Given the description of an element on the screen output the (x, y) to click on. 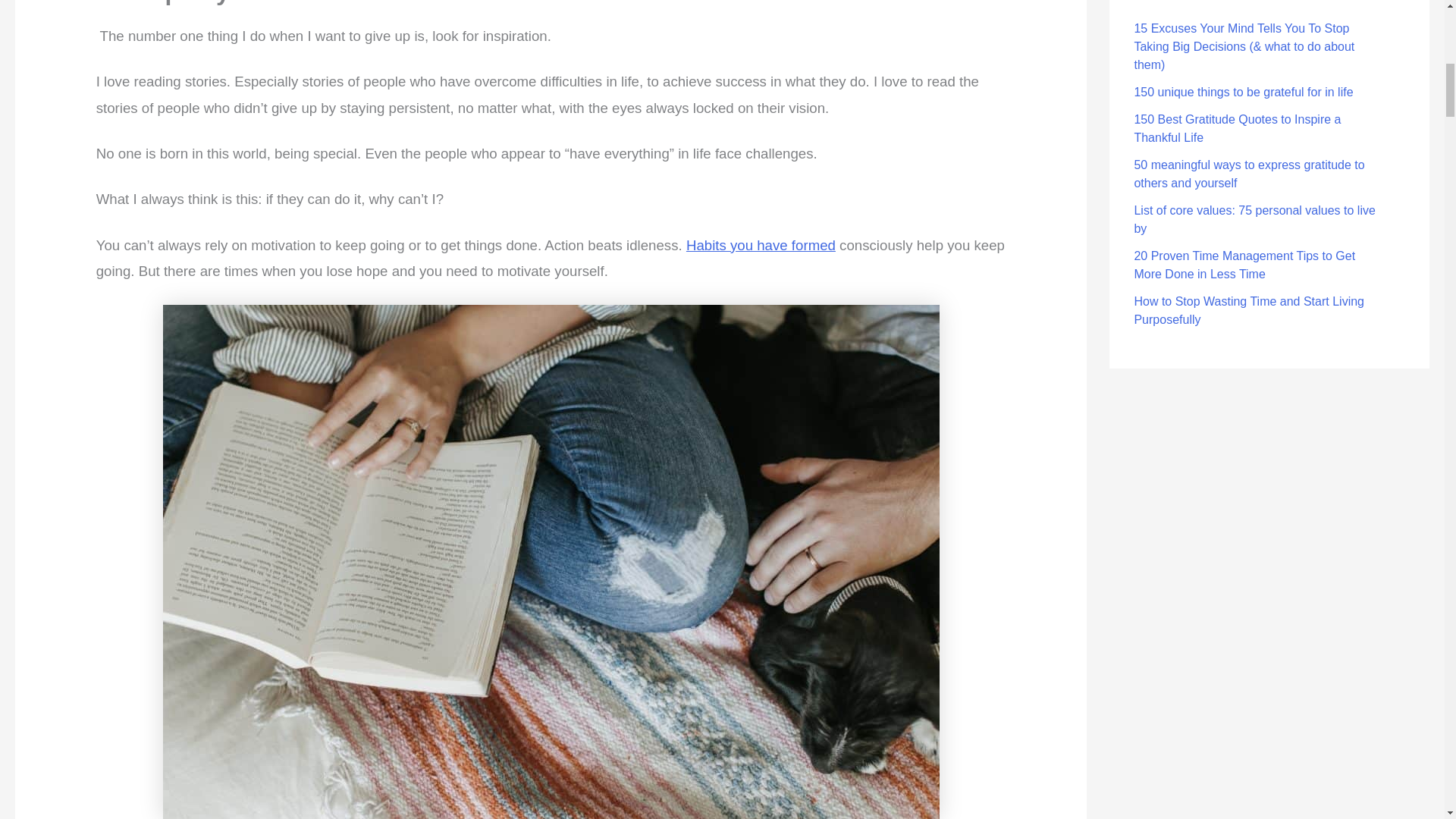
Habits you have formed (760, 245)
